Given the description of an element on the screen output the (x, y) to click on. 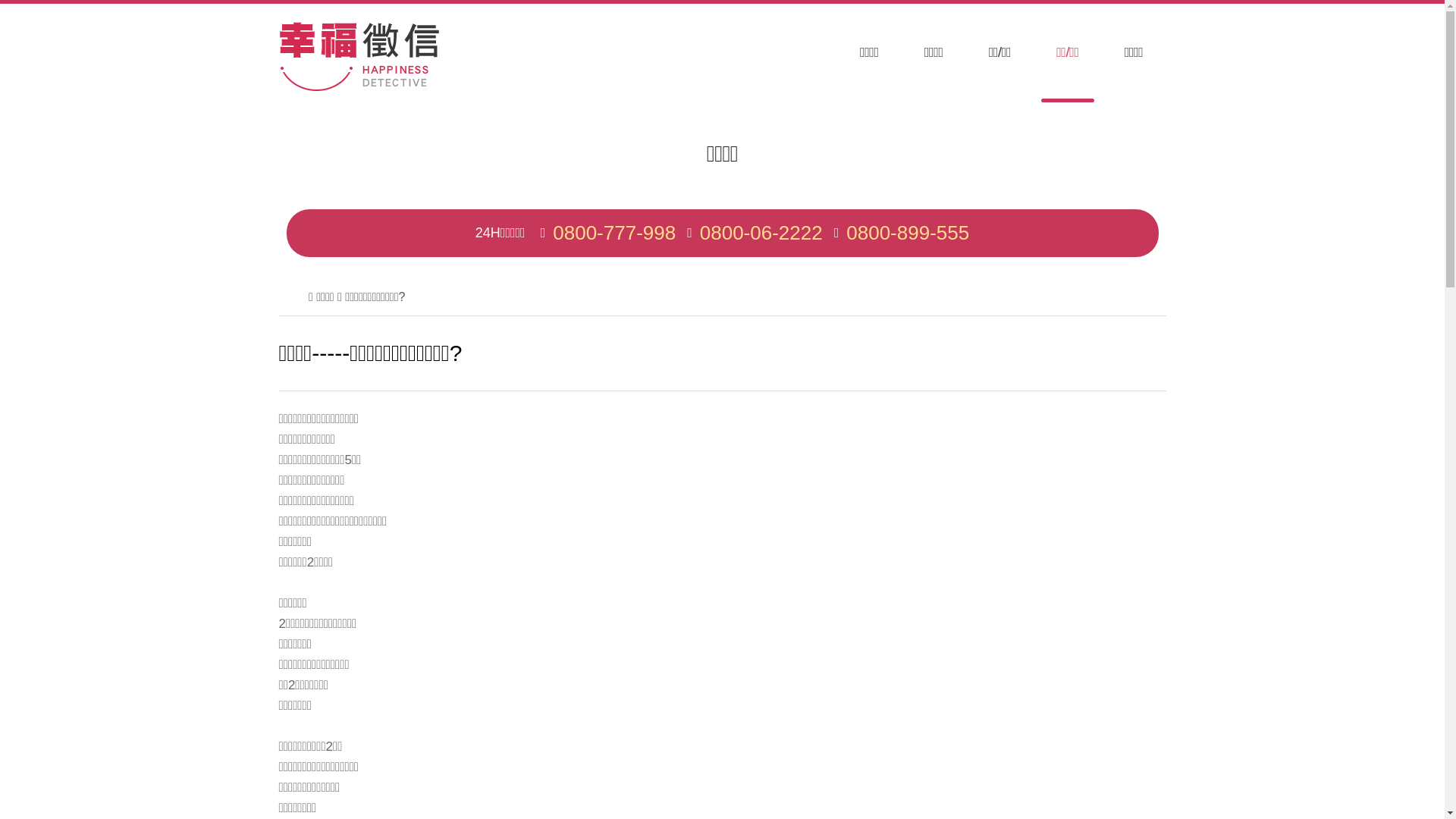
0800-06-2222 Element type: text (760, 232)
0800-777-998 Element type: text (613, 232)
0800-899-555 Element type: text (907, 232)
